Given the description of an element on the screen output the (x, y) to click on. 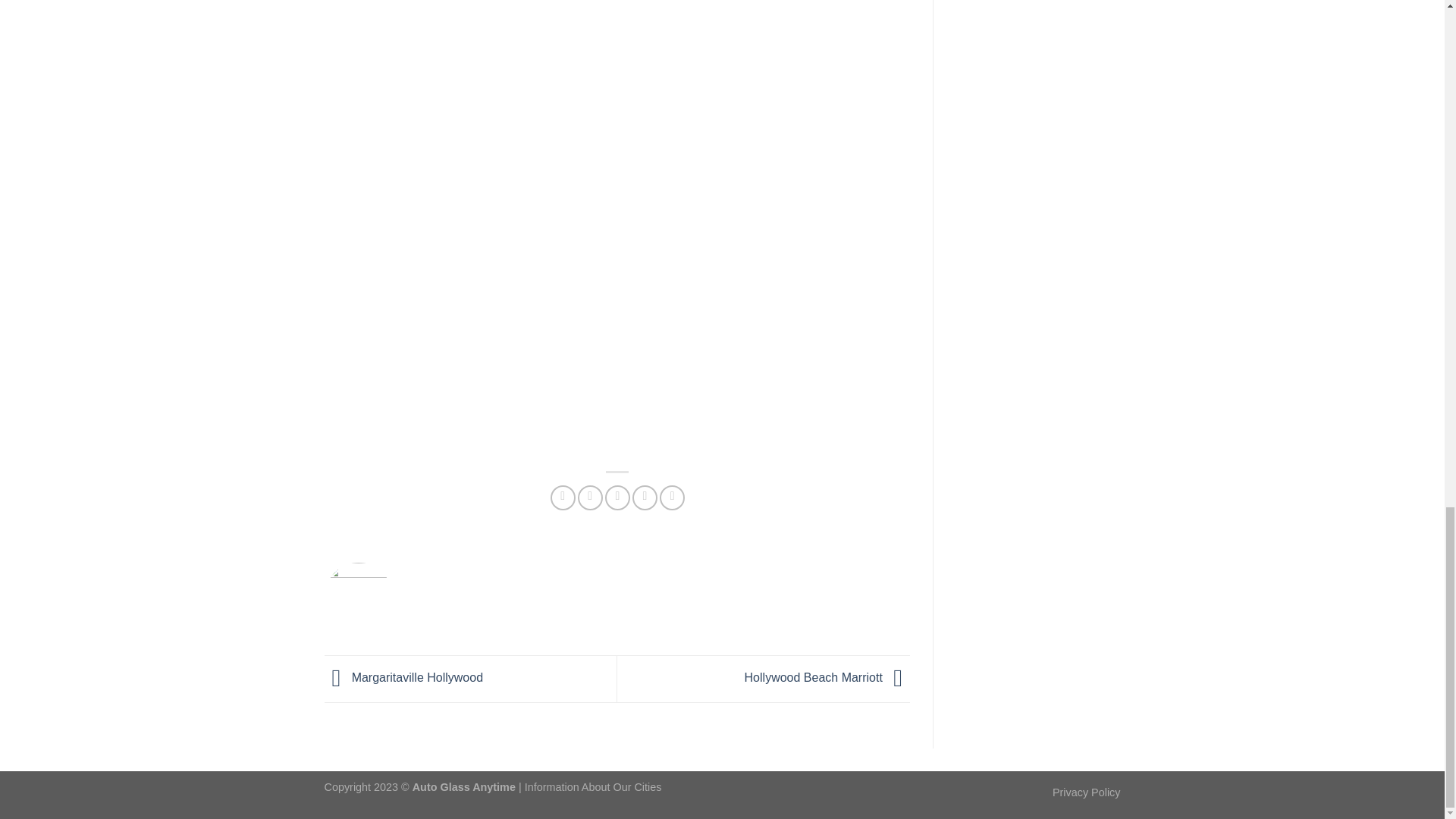
Privacy Policy (1086, 792)
Information About Our Cities (593, 787)
Share on Twitter (590, 497)
Share on Facebook (562, 497)
Share on LinkedIn (671, 497)
Margaritaville Hollywood (403, 677)
Hollywood Beach Marriott (827, 677)
Pin on Pinterest (644, 497)
Email to a Friend (617, 497)
